Given the description of an element on the screen output the (x, y) to click on. 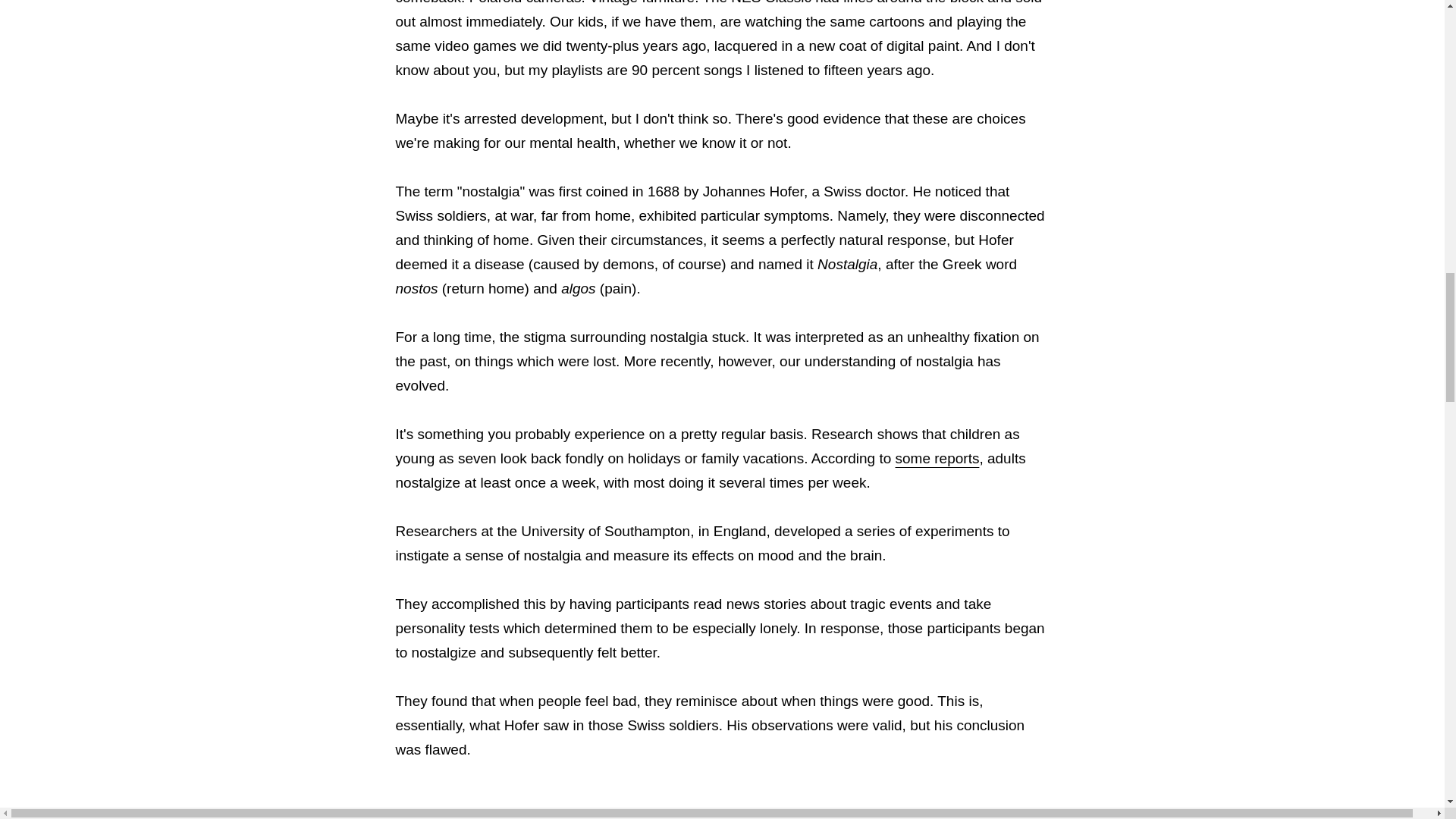
some reports (937, 458)
